Given the description of an element on the screen output the (x, y) to click on. 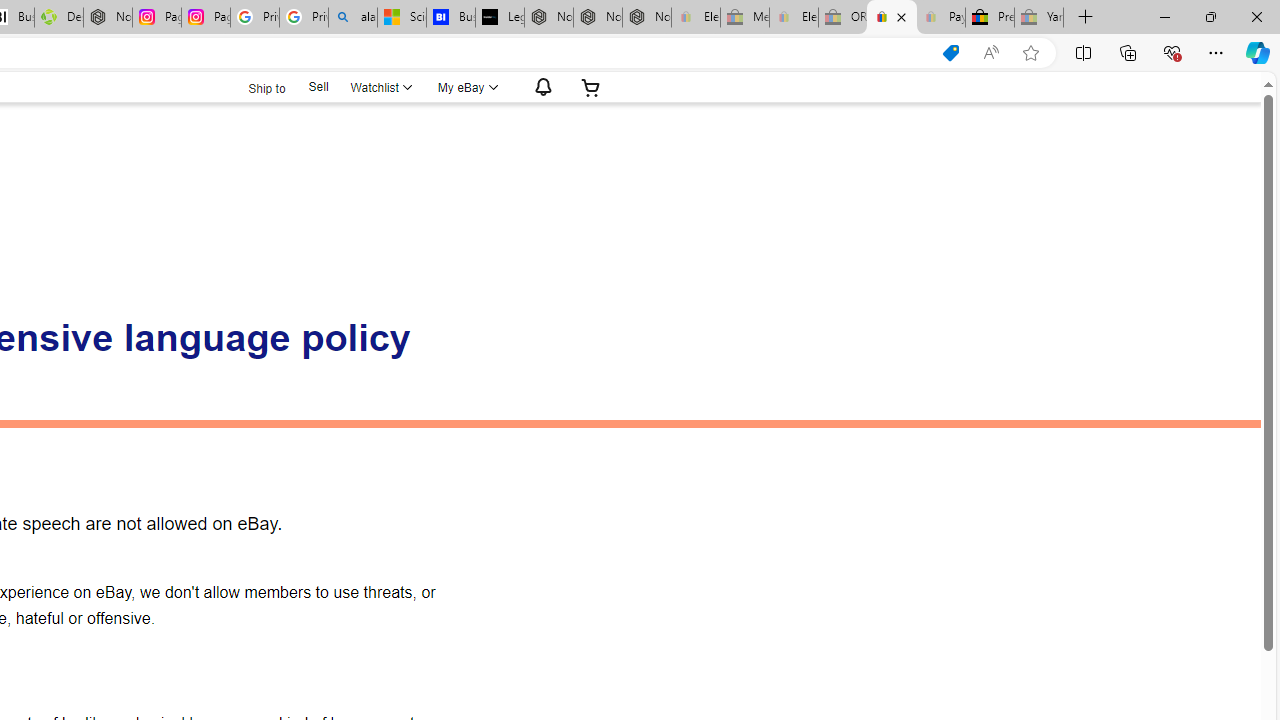
Yard, Garden & Outdoor Living - Sleeping (1039, 17)
This site has coupons! Shopping in Microsoft Edge (950, 53)
Payments Terms of Use | eBay.com - Sleeping (940, 17)
Split screen (1083, 52)
Close (1256, 16)
Add this page to favorites (Ctrl+D) (1030, 53)
Watchlist (380, 87)
WatchlistExpand Watch List (380, 87)
Sell (317, 86)
Close tab (901, 16)
Your shopping cart (591, 87)
